Given the description of an element on the screen output the (x, y) to click on. 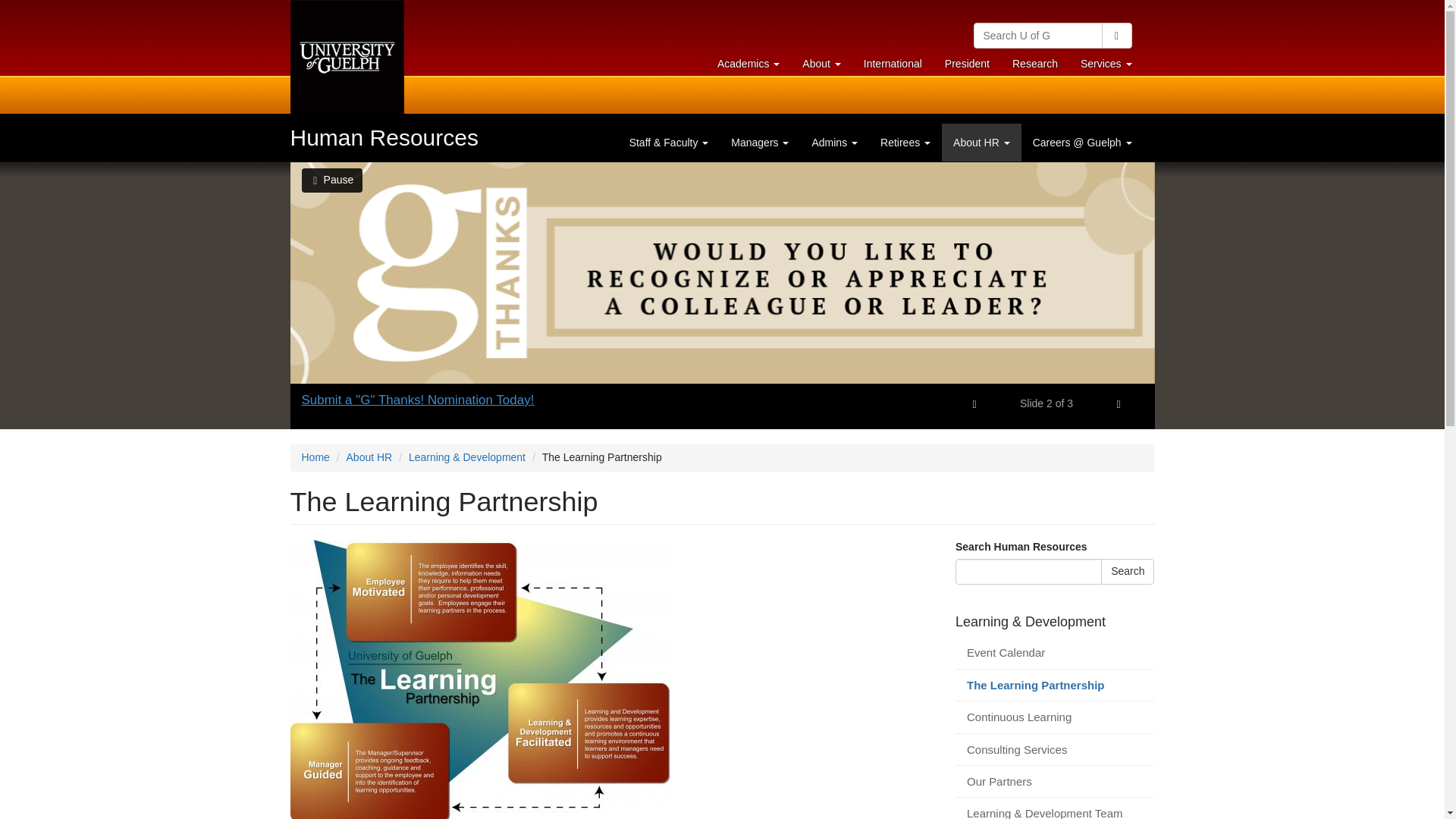
President (748, 63)
Search (967, 63)
Enter the terms you wish to search for. (1115, 35)
Home (1028, 571)
International (384, 137)
Skip to main content (1034, 63)
